Given the description of an element on the screen output the (x, y) to click on. 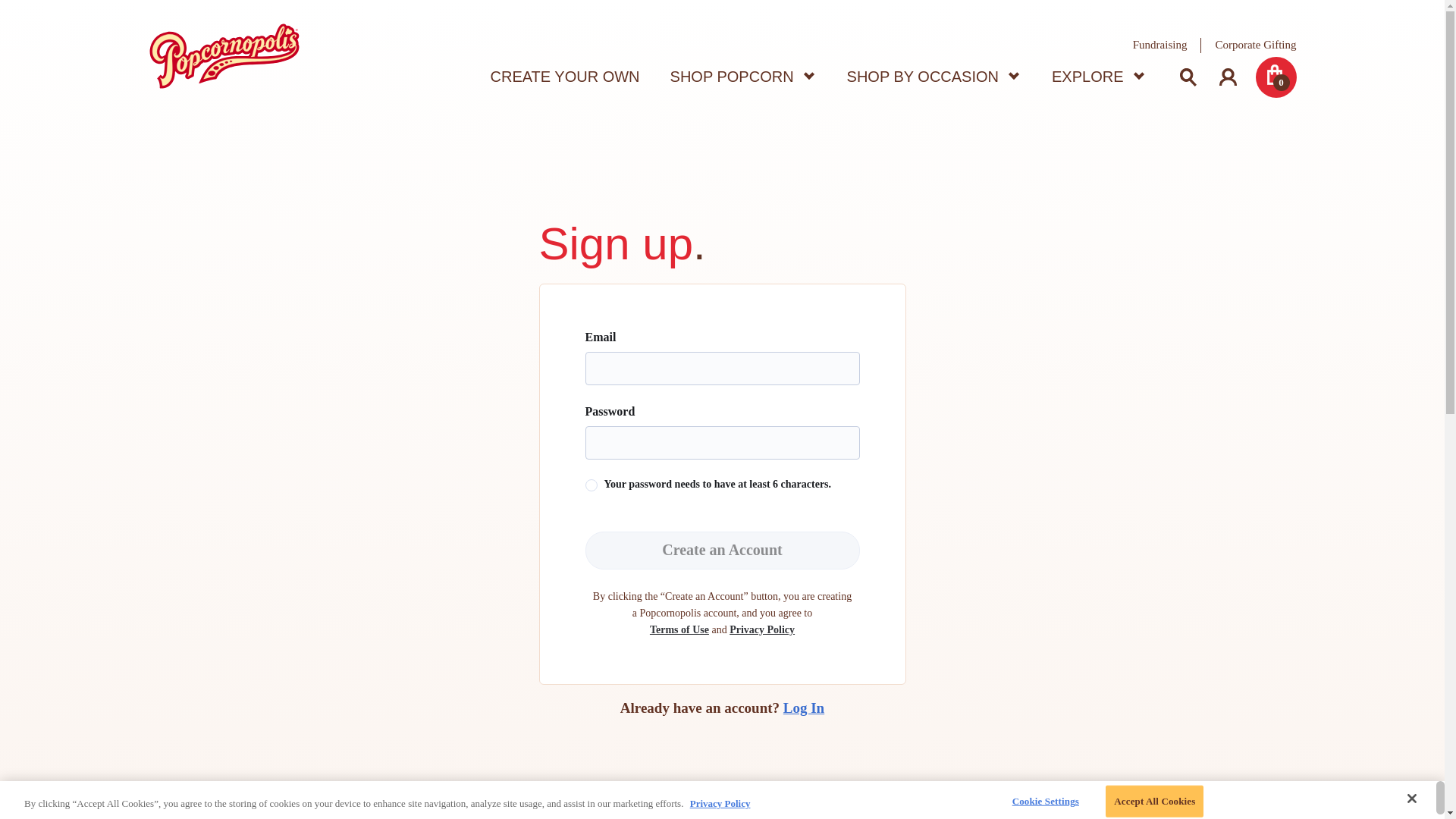
SHOP BY OCCASION (934, 76)
CREATE YOUR OWN (565, 76)
EXPLORE (1098, 76)
SHOP POPCORN (742, 76)
Fundraising (1160, 45)
Corporate Gifting (1254, 45)
